Given the description of an element on the screen output the (x, y) to click on. 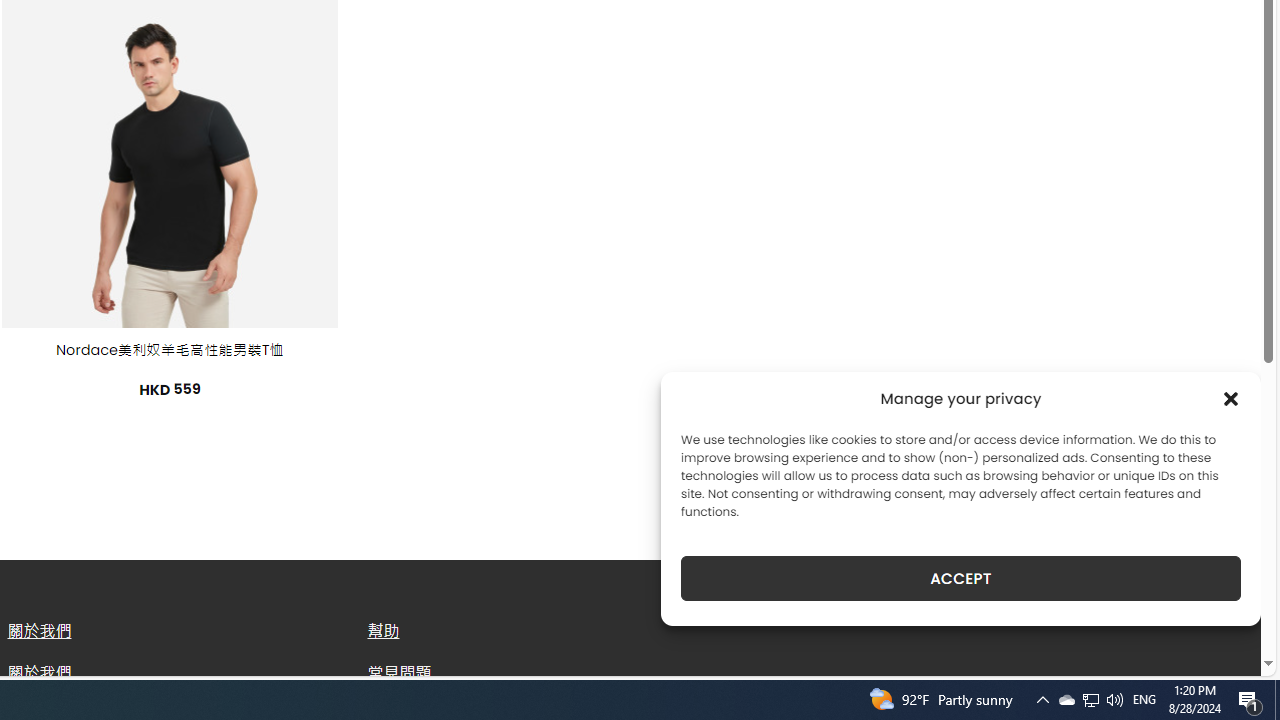
ACCEPT (960, 578)
Class: cmplz-close (1231, 398)
Go to top (1220, 647)
